Given the description of an element on the screen output the (x, y) to click on. 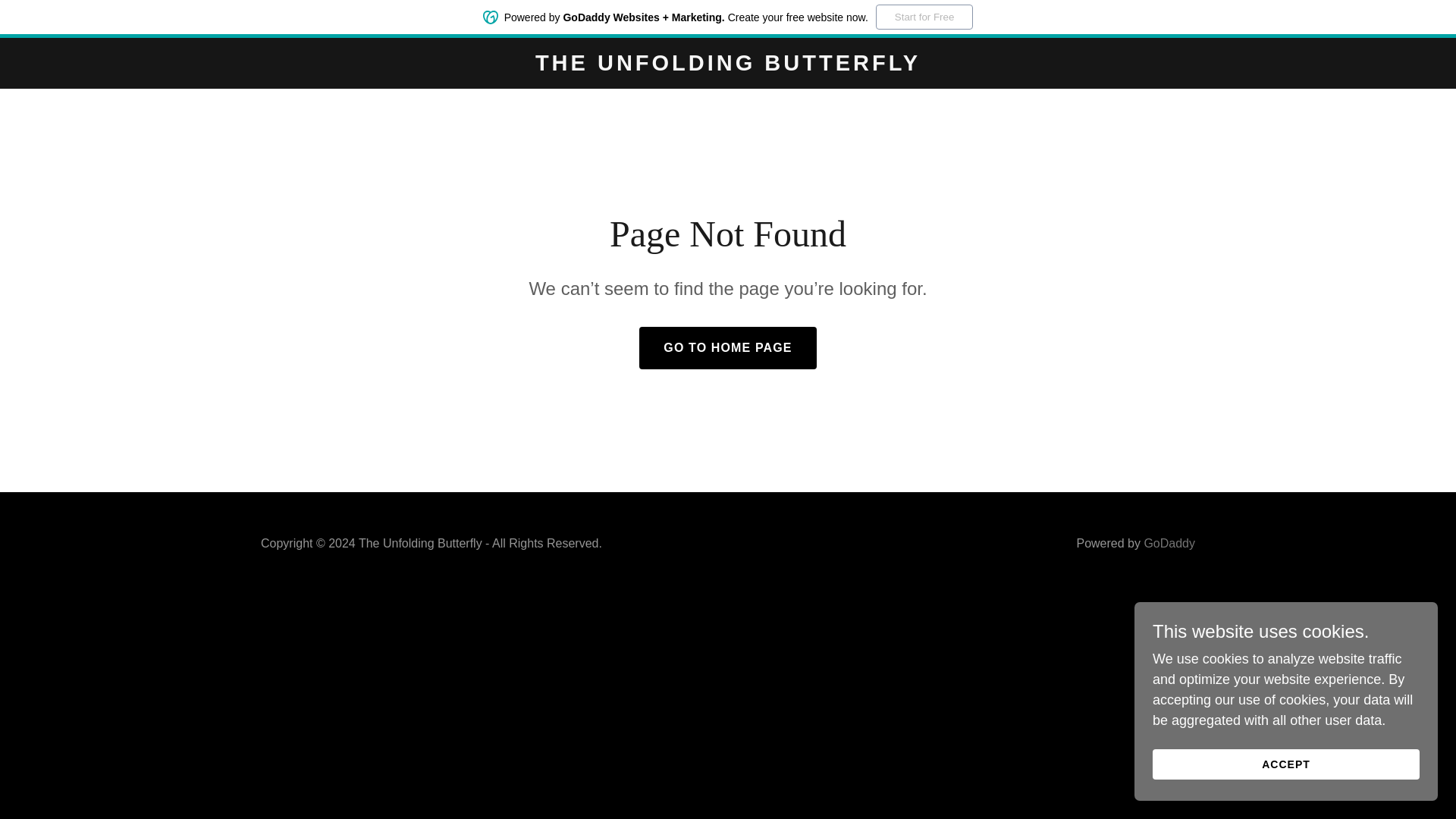
The Unfolding Butterfly (727, 65)
GoDaddy (1168, 543)
ACCEPT (1286, 764)
THE UNFOLDING BUTTERFLY (727, 65)
GO TO HOME PAGE (727, 347)
